Given the description of an element on the screen output the (x, y) to click on. 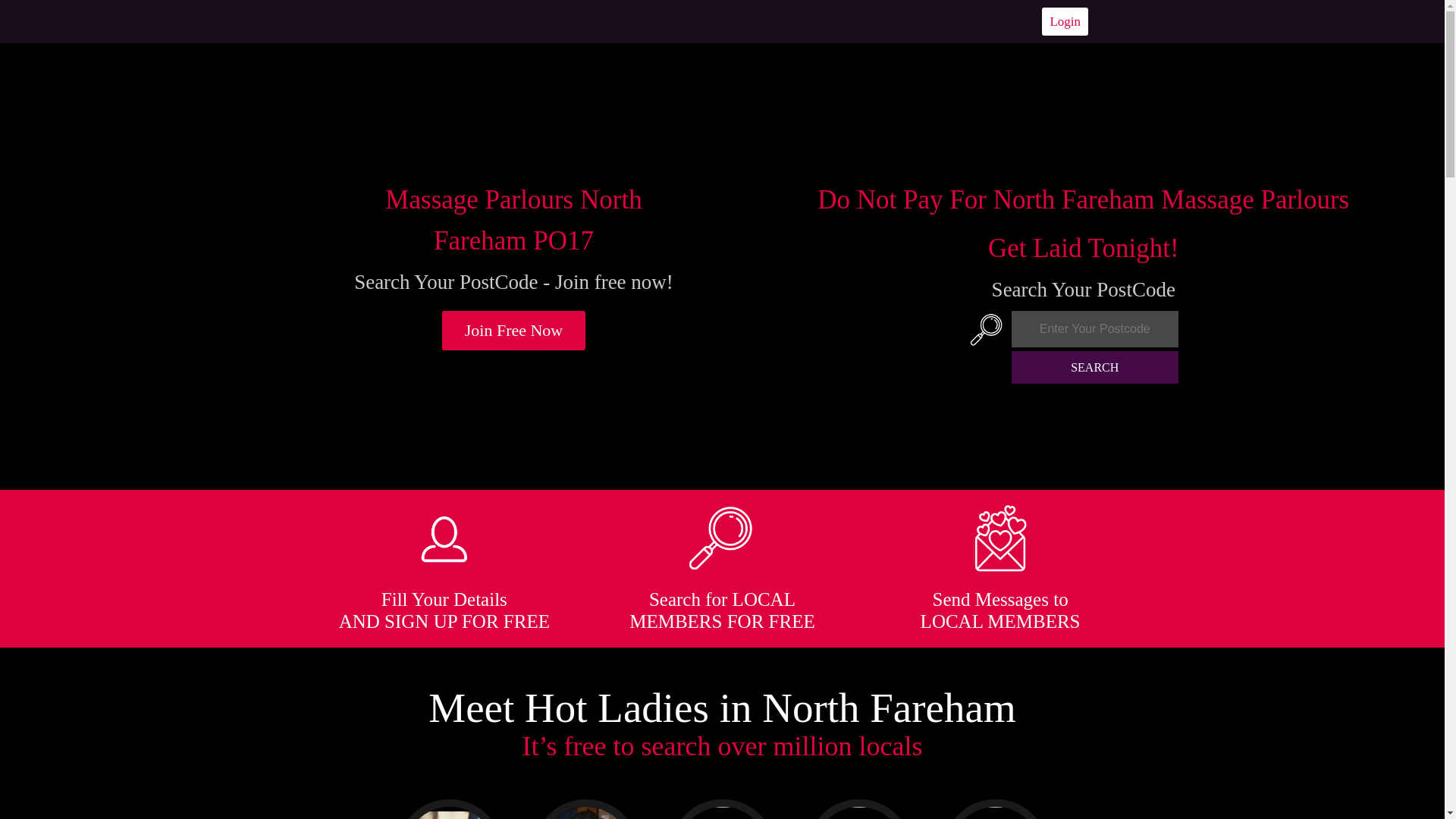
Login (1064, 21)
Login (1064, 21)
SEARCH (1094, 367)
Join (514, 330)
Join Free Now (514, 330)
